Given the description of an element on the screen output the (x, y) to click on. 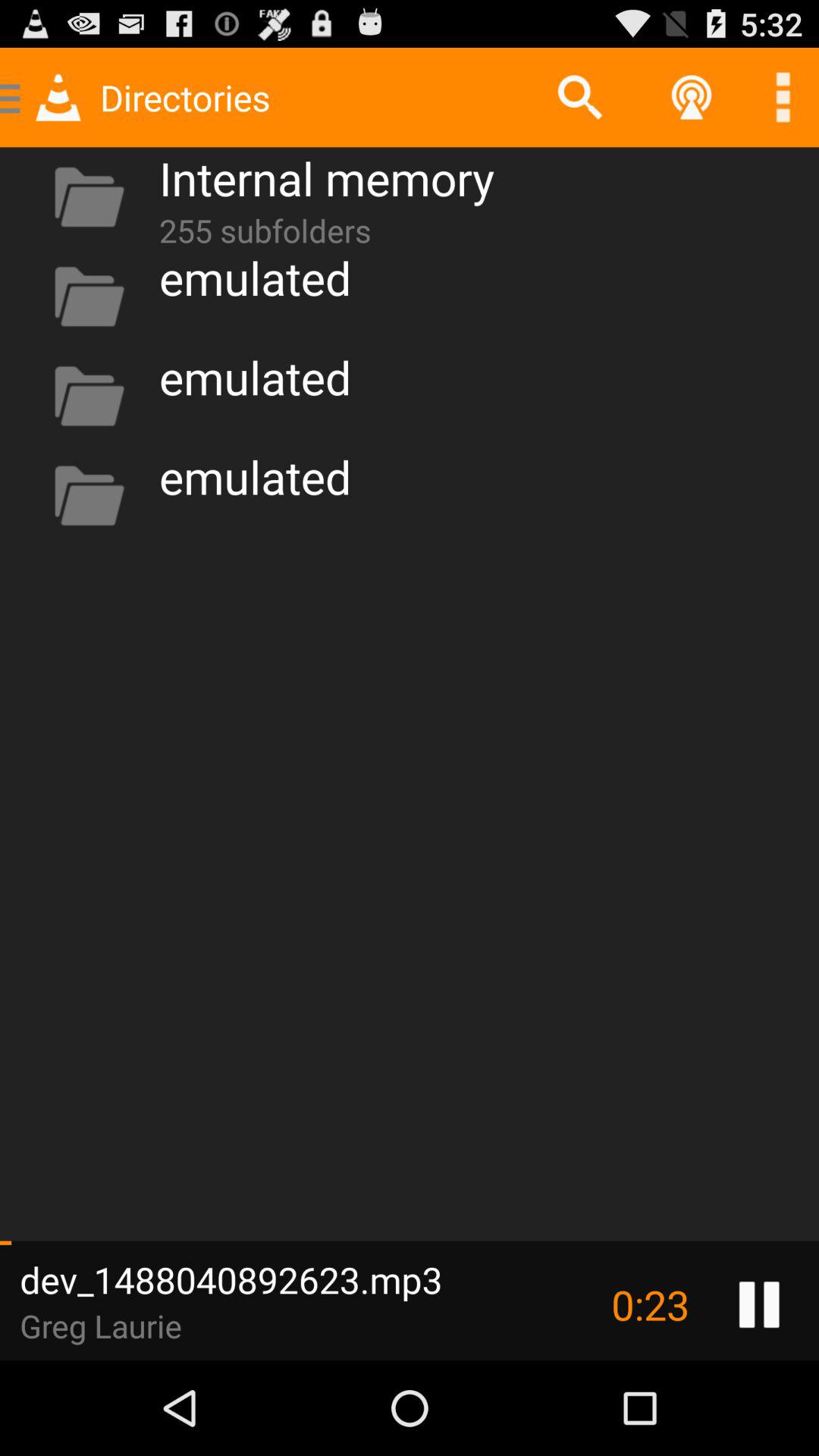
press icon next to the 0:24 item (759, 1304)
